Given the description of an element on the screen output the (x, y) to click on. 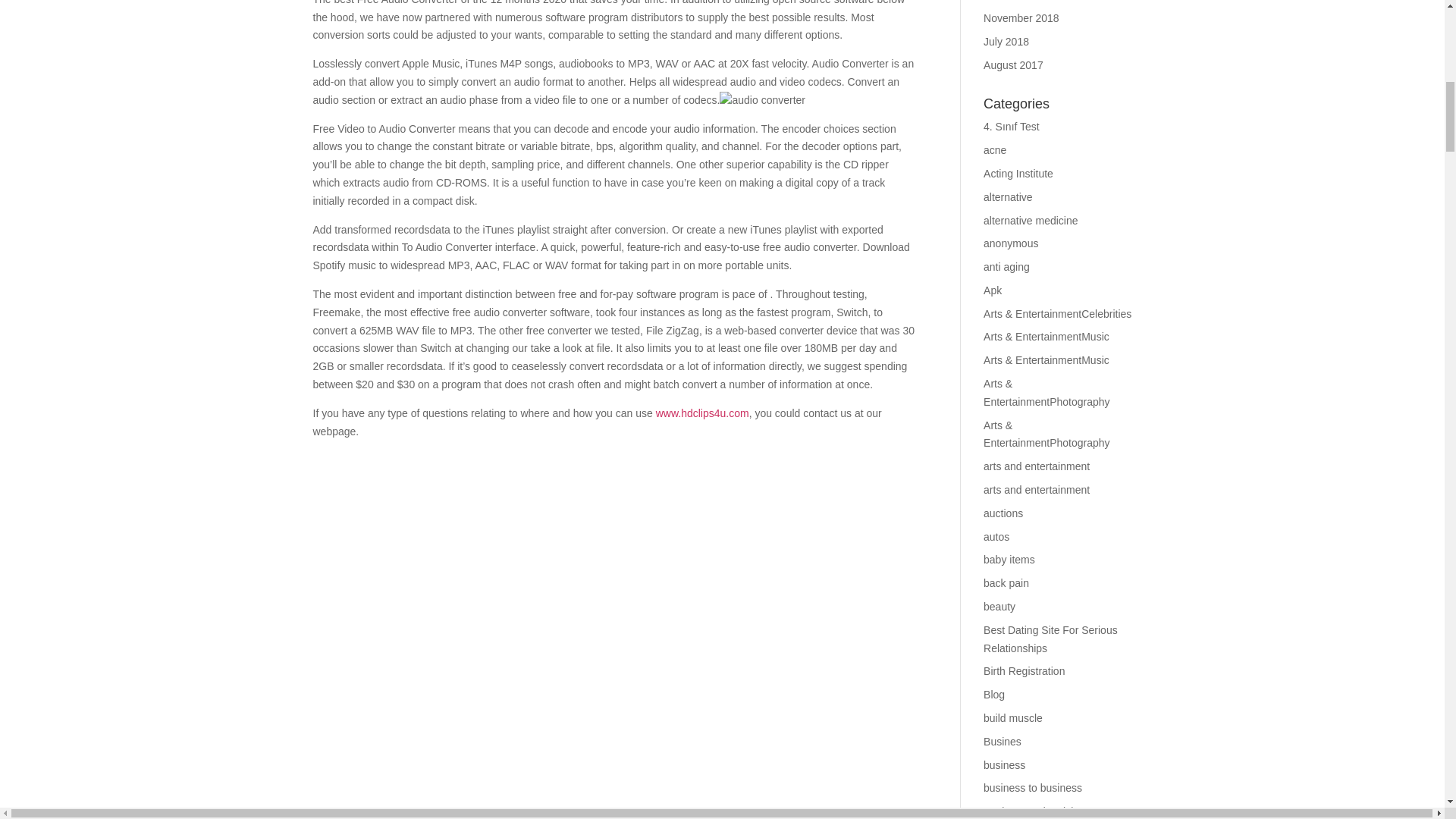
July 2018 (1006, 41)
November 2018 (1021, 18)
www.hdclips4u.com (702, 413)
